Given the description of an element on the screen output the (x, y) to click on. 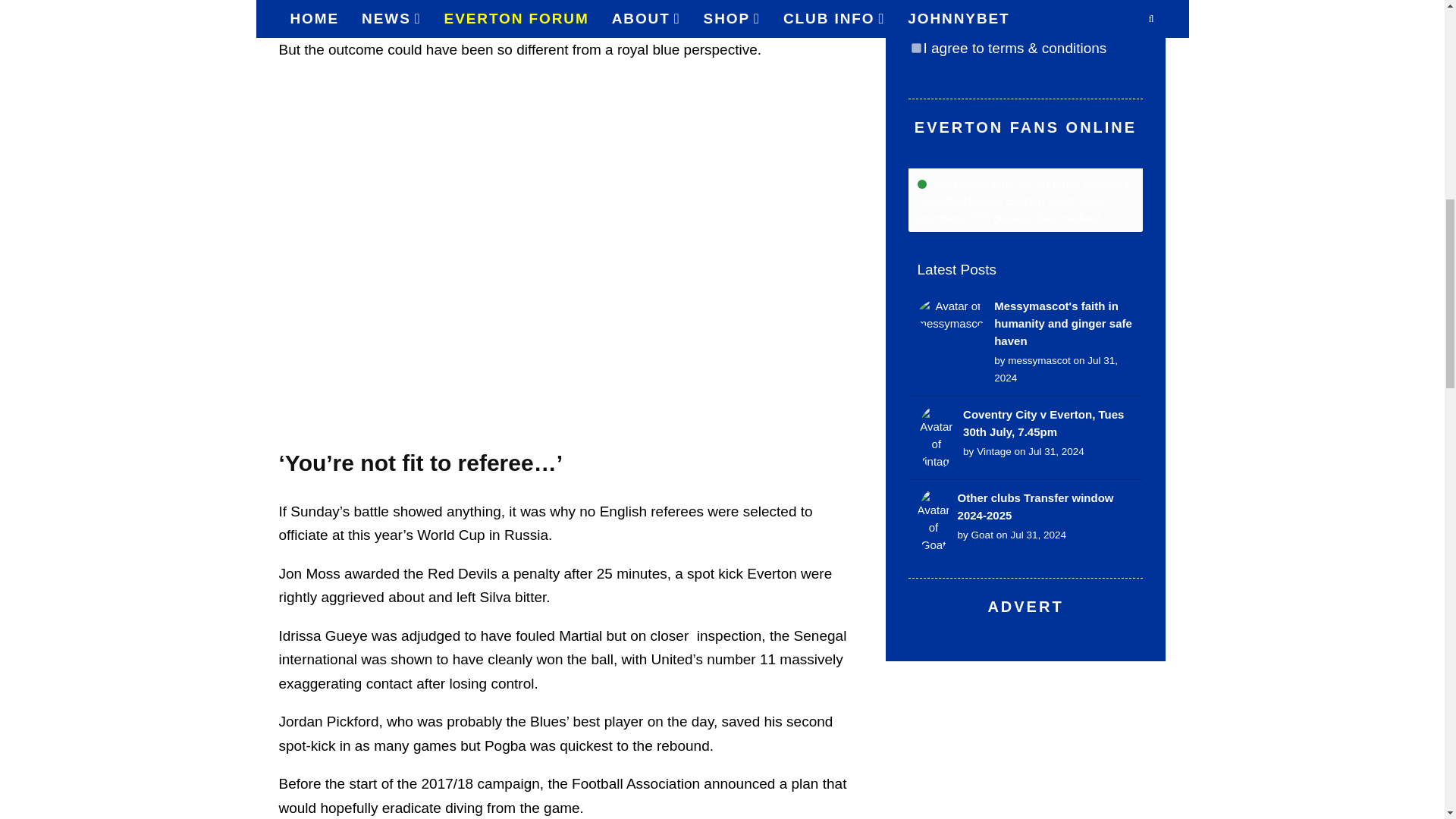
Subscribe (941, 14)
on (916, 48)
